Given the description of an element on the screen output the (x, y) to click on. 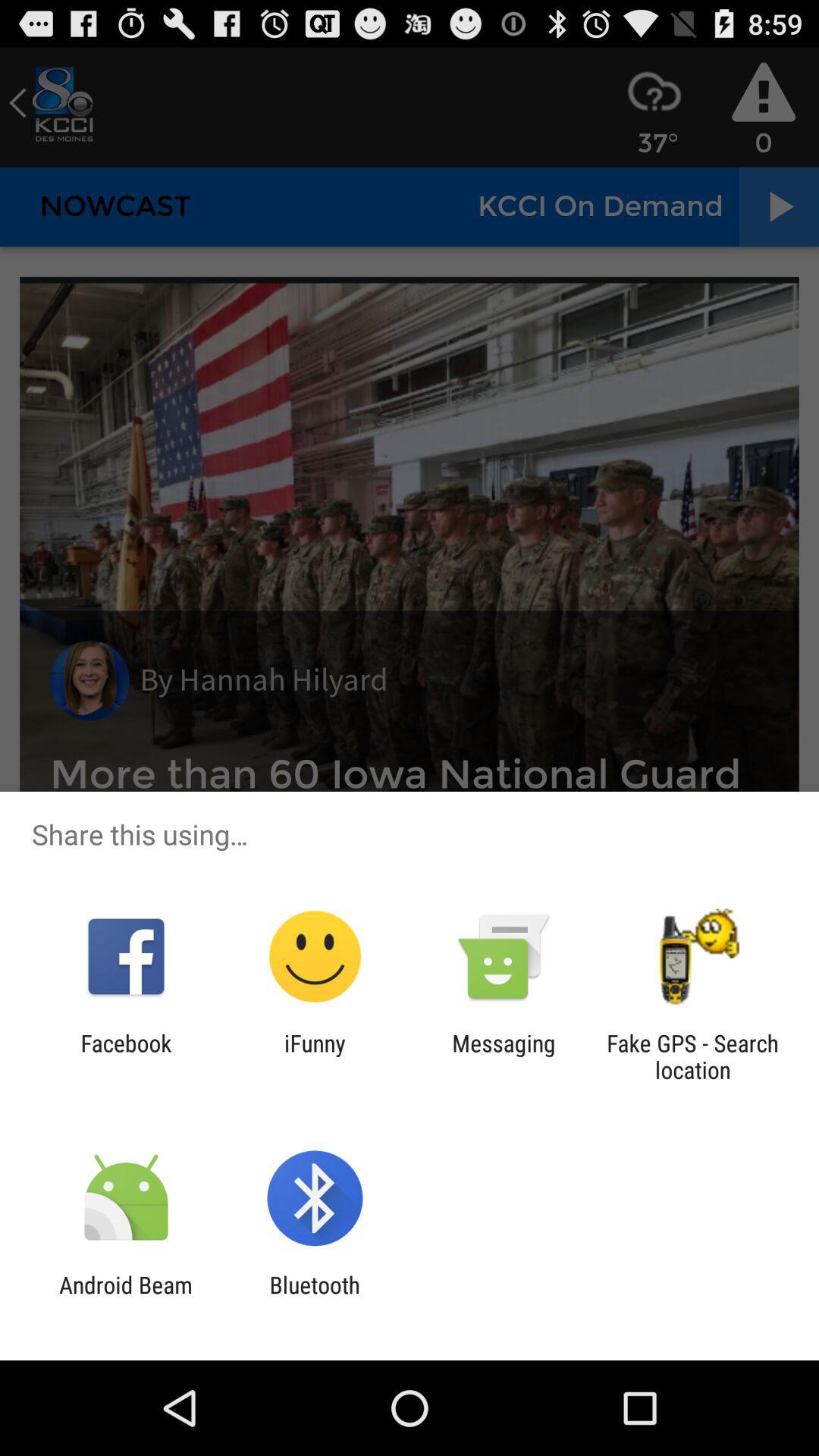
turn on the item next to messaging item (314, 1056)
